Given the description of an element on the screen output the (x, y) to click on. 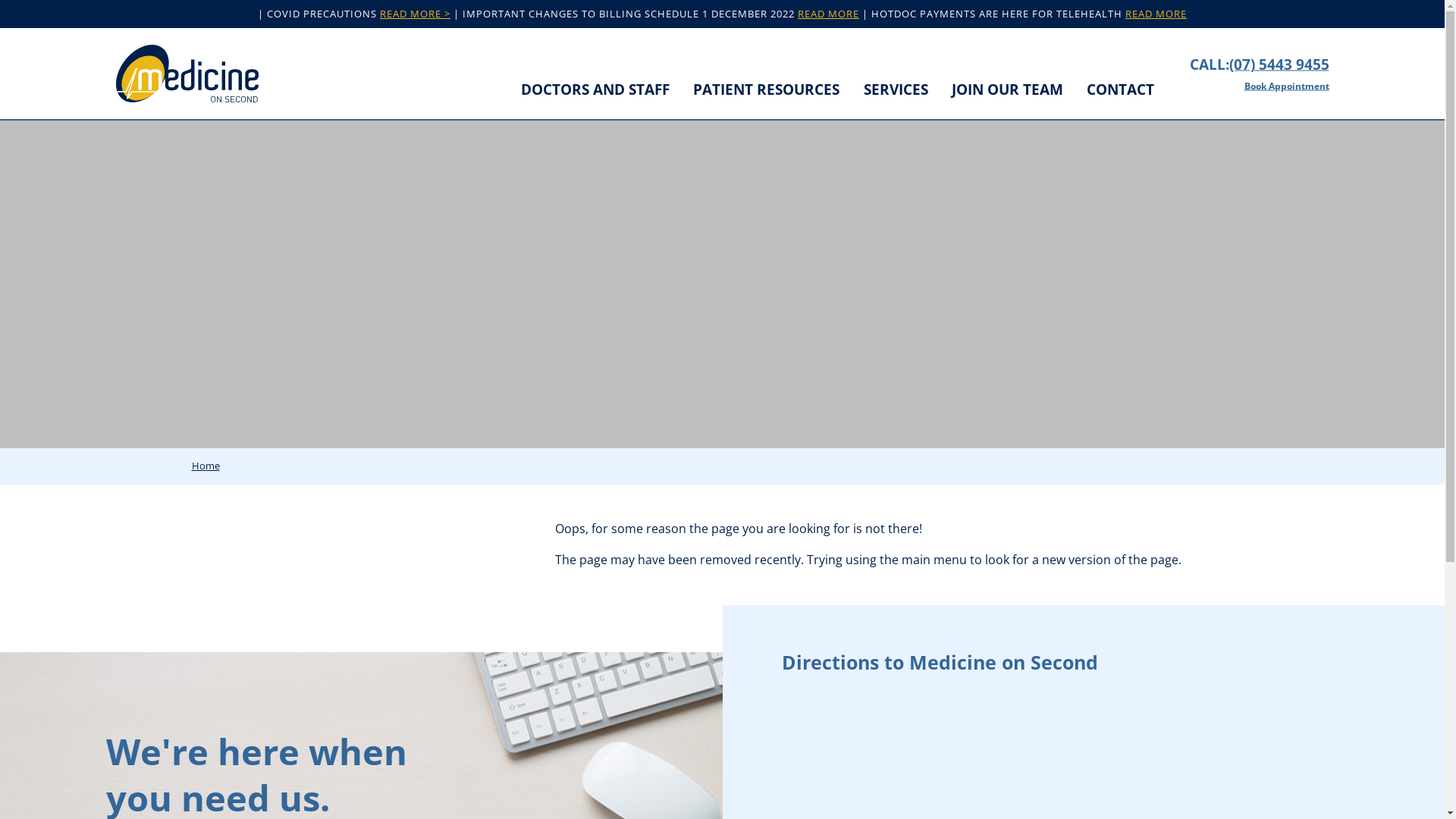
PATIENT RESOURCES Element type: text (766, 89)
Home Element type: text (205, 465)
CALL: (07) 5443 9455 Element type: text (1258, 63)
Medicine on Second Element type: hover (186, 73)
CONTACT Element type: text (1120, 89)
READ MORE > Element type: text (414, 13)
READ MORE Element type: text (1155, 13)
SERVICES Element type: text (895, 89)
DOCTORS AND STAFF Element type: text (594, 89)
READ MORE Element type: text (828, 13)
JOIN OUR TEAM Element type: text (1007, 89)
Book Appointment Element type: text (1258, 86)
